Given the description of an element on the screen output the (x, y) to click on. 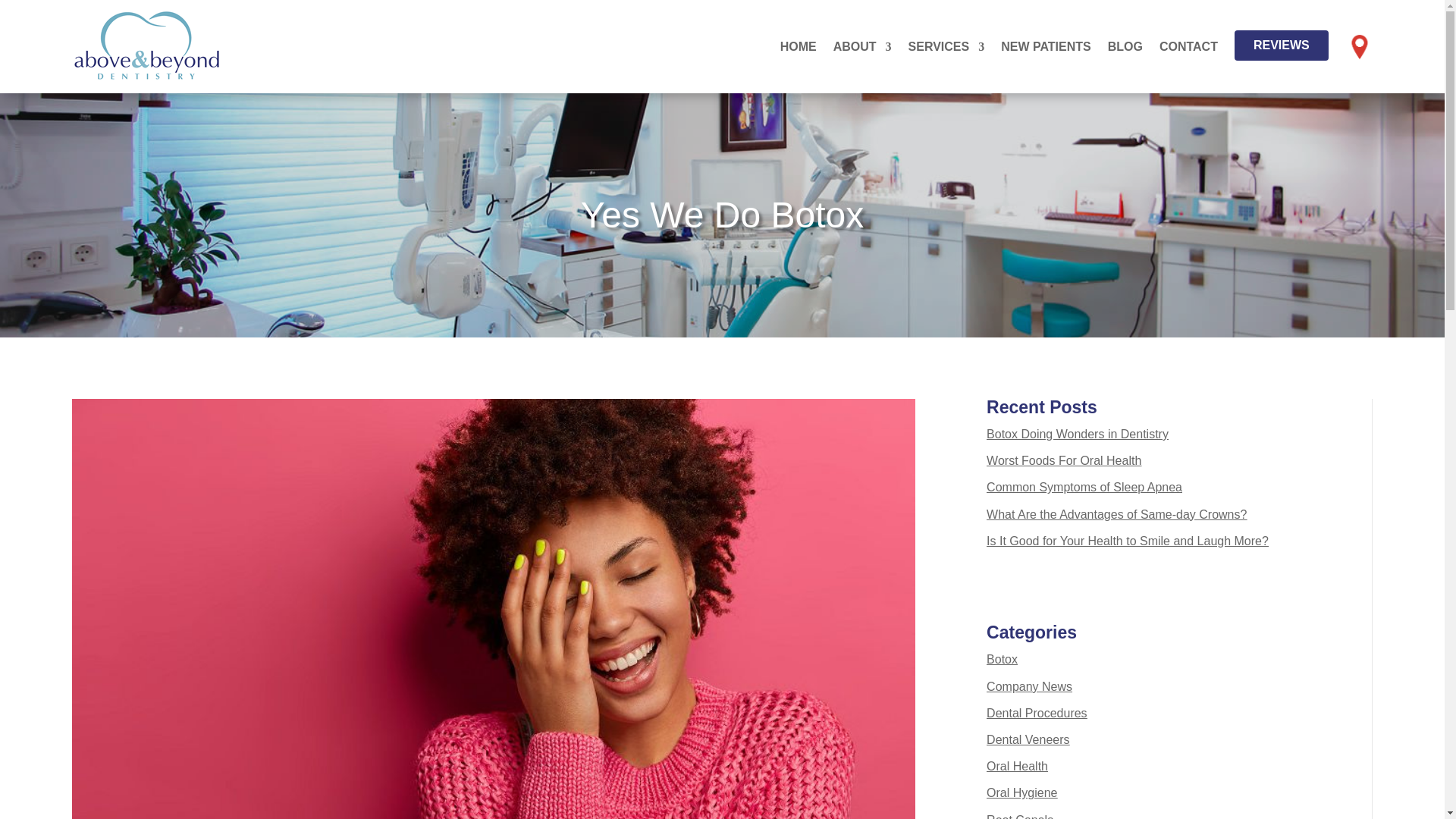
Dental Procedures (1037, 712)
Botox (1002, 658)
Oral Hygiene (1022, 792)
Company News (1029, 686)
REVIEWS (1280, 45)
NEW PATIENTS (1045, 46)
What Are the Advantages of Same-day Crowns? (1116, 513)
Oral Health (1017, 766)
SERVICES (946, 46)
